Given the description of an element on the screen output the (x, y) to click on. 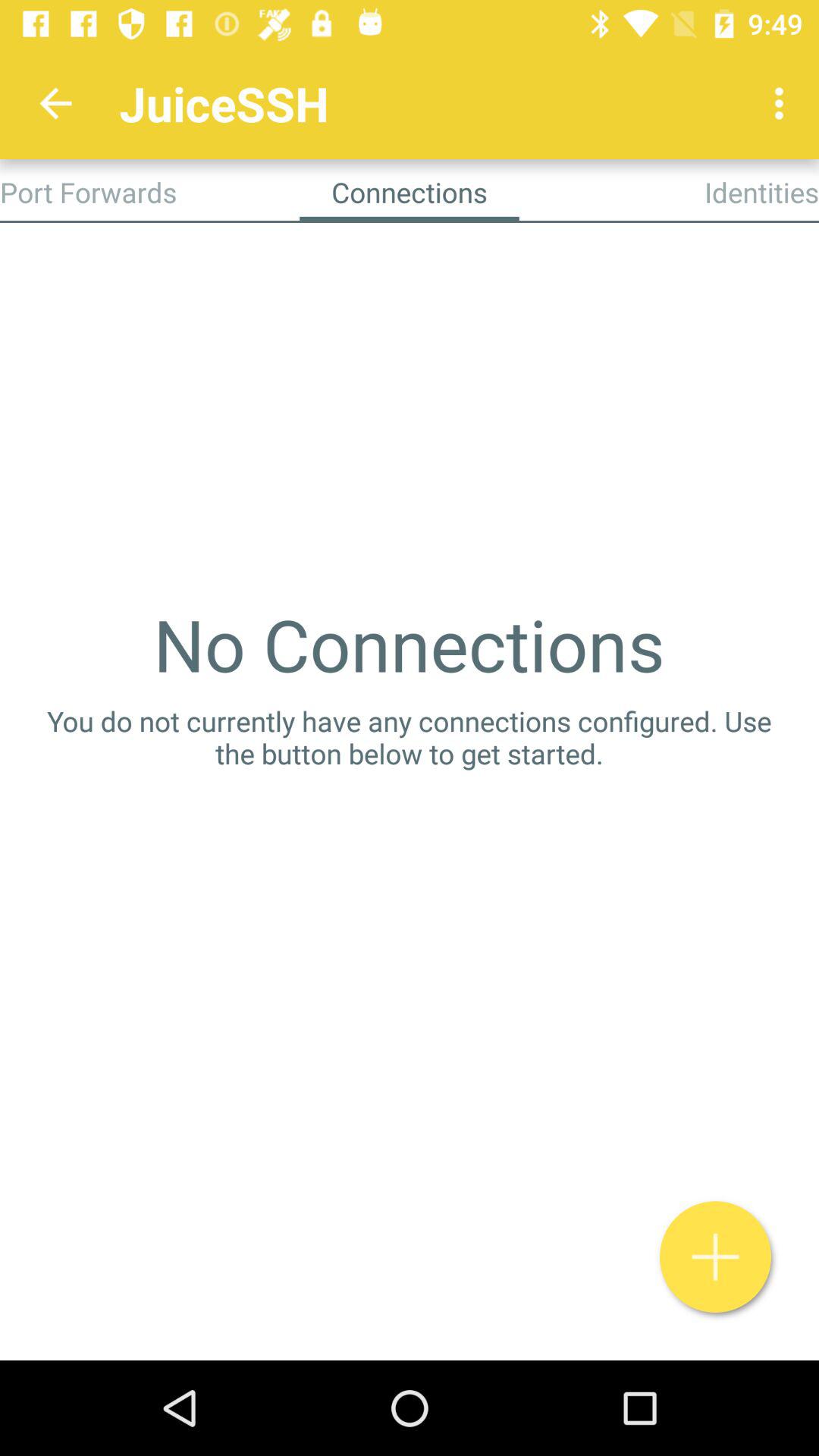
choose the icon at the bottom right corner (715, 1256)
